Given the description of an element on the screen output the (x, y) to click on. 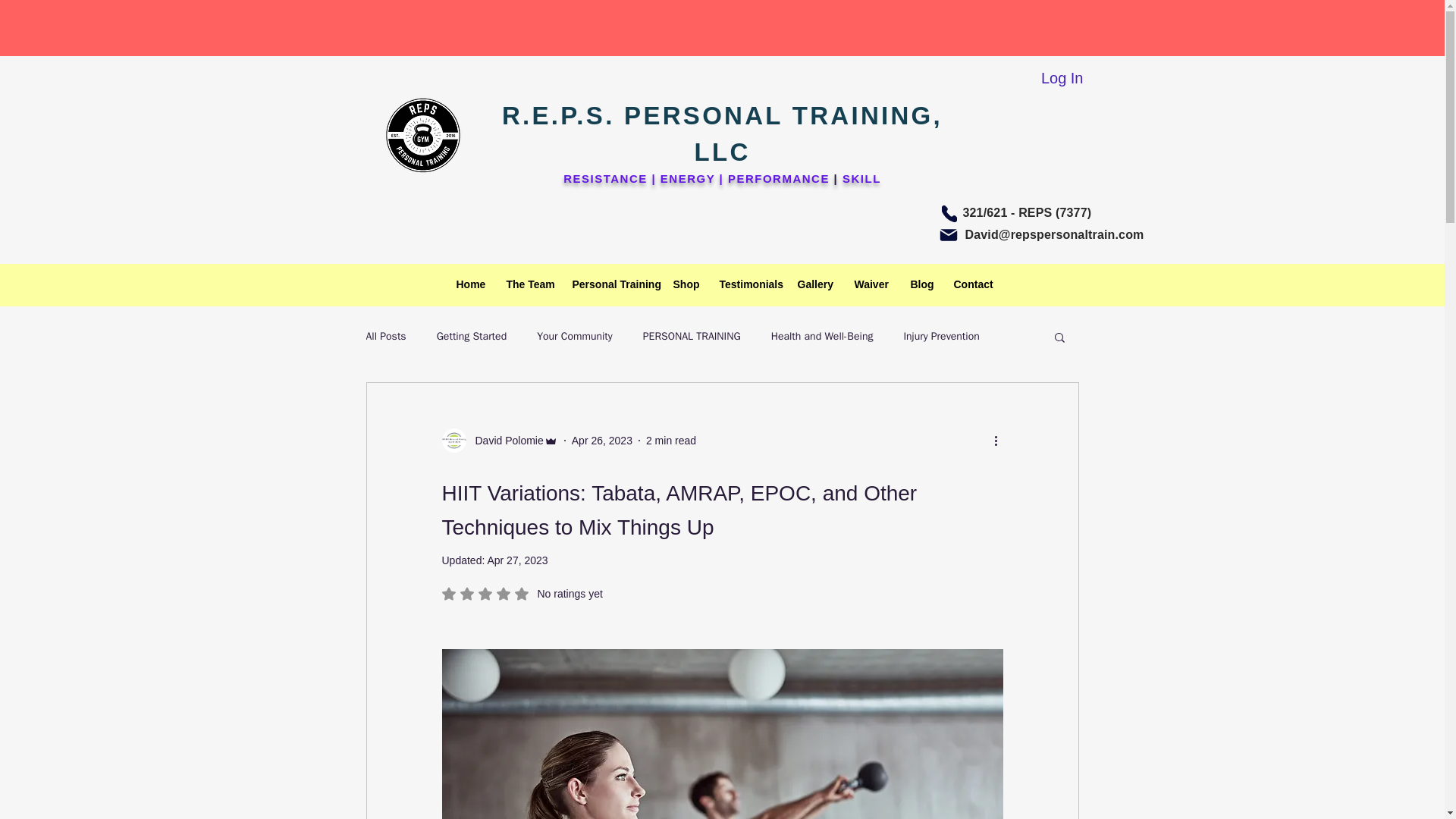
PERSONAL TRAINING (692, 336)
All Posts (385, 336)
The Team (527, 284)
Log In (1062, 78)
Personal Training (611, 284)
Health and Well-Being (822, 336)
Apr 27, 2023 (516, 560)
Gallery (814, 284)
David Polomie (504, 440)
David Polomie (499, 440)
Blog (920, 284)
2 min read (670, 440)
Contact (970, 284)
Waiver (871, 284)
Your Community (574, 336)
